Given the description of an element on the screen output the (x, y) to click on. 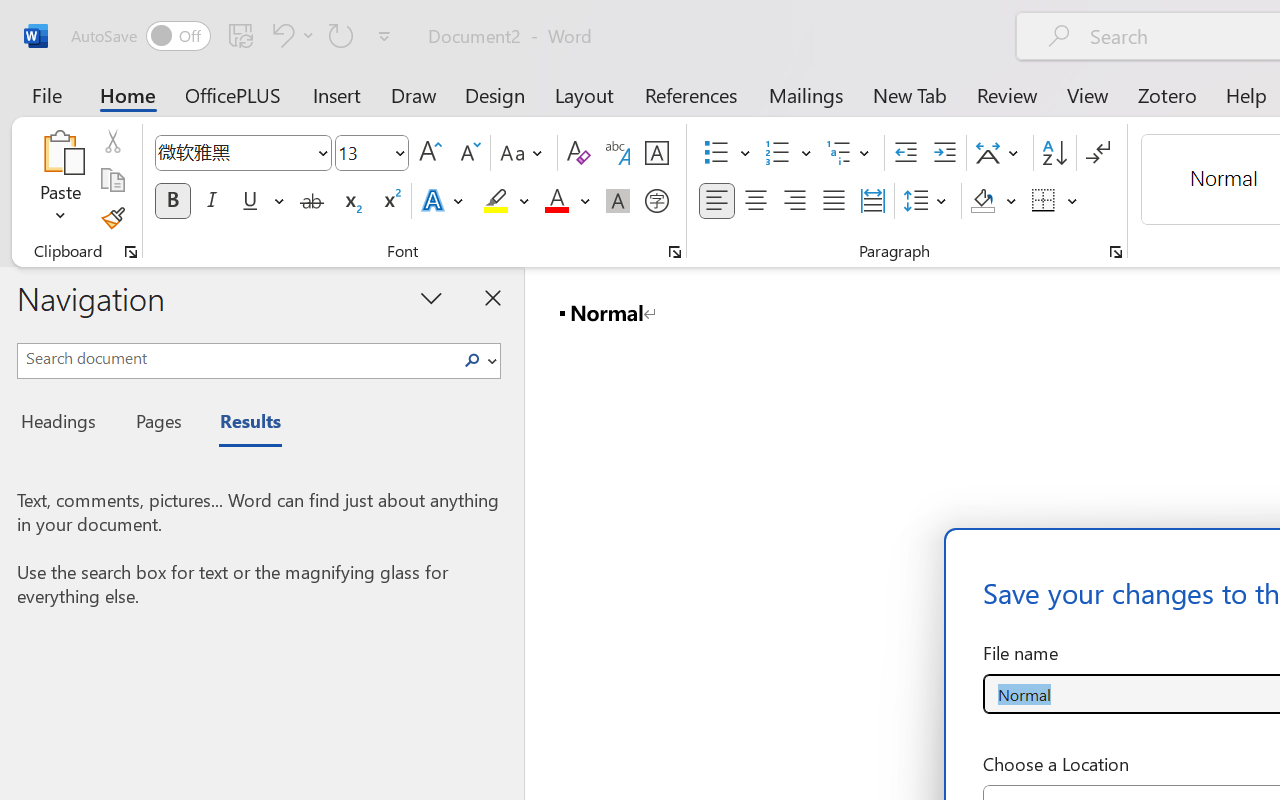
Repeat Style (341, 35)
Layout (584, 94)
Show/Hide Editing Marks (1098, 153)
Pages (156, 424)
Strikethrough (312, 201)
Customize Quick Access Toolbar (384, 35)
Character Shading (618, 201)
Task Pane Options (431, 297)
Results (240, 424)
Shrink Font (468, 153)
Quick Access Toolbar (233, 36)
